Given the description of an element on the screen output the (x, y) to click on. 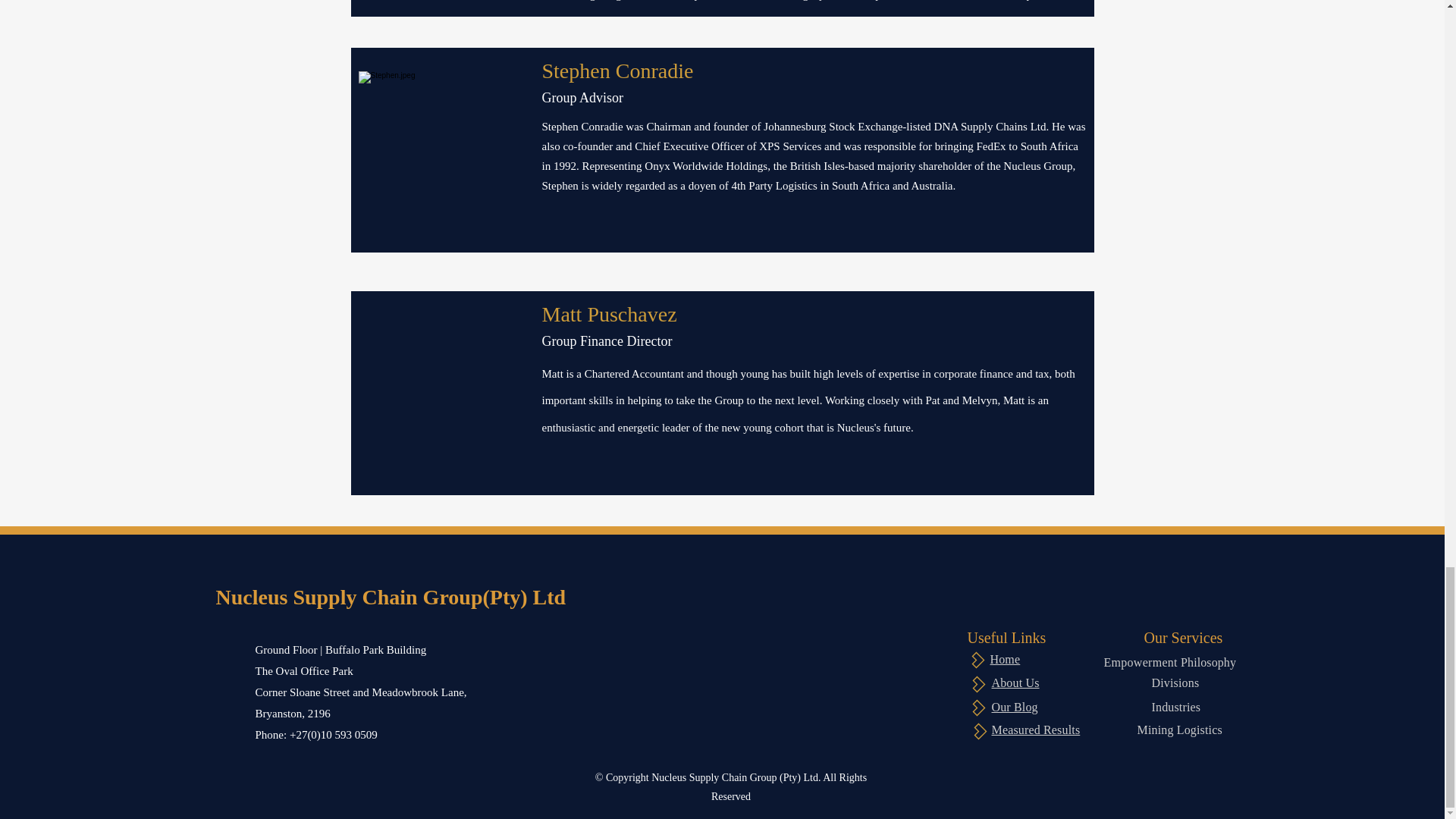
Our Blog (1014, 707)
About Us (1015, 682)
Measured Results (1035, 729)
Home (1005, 658)
